Given the description of an element on the screen output the (x, y) to click on. 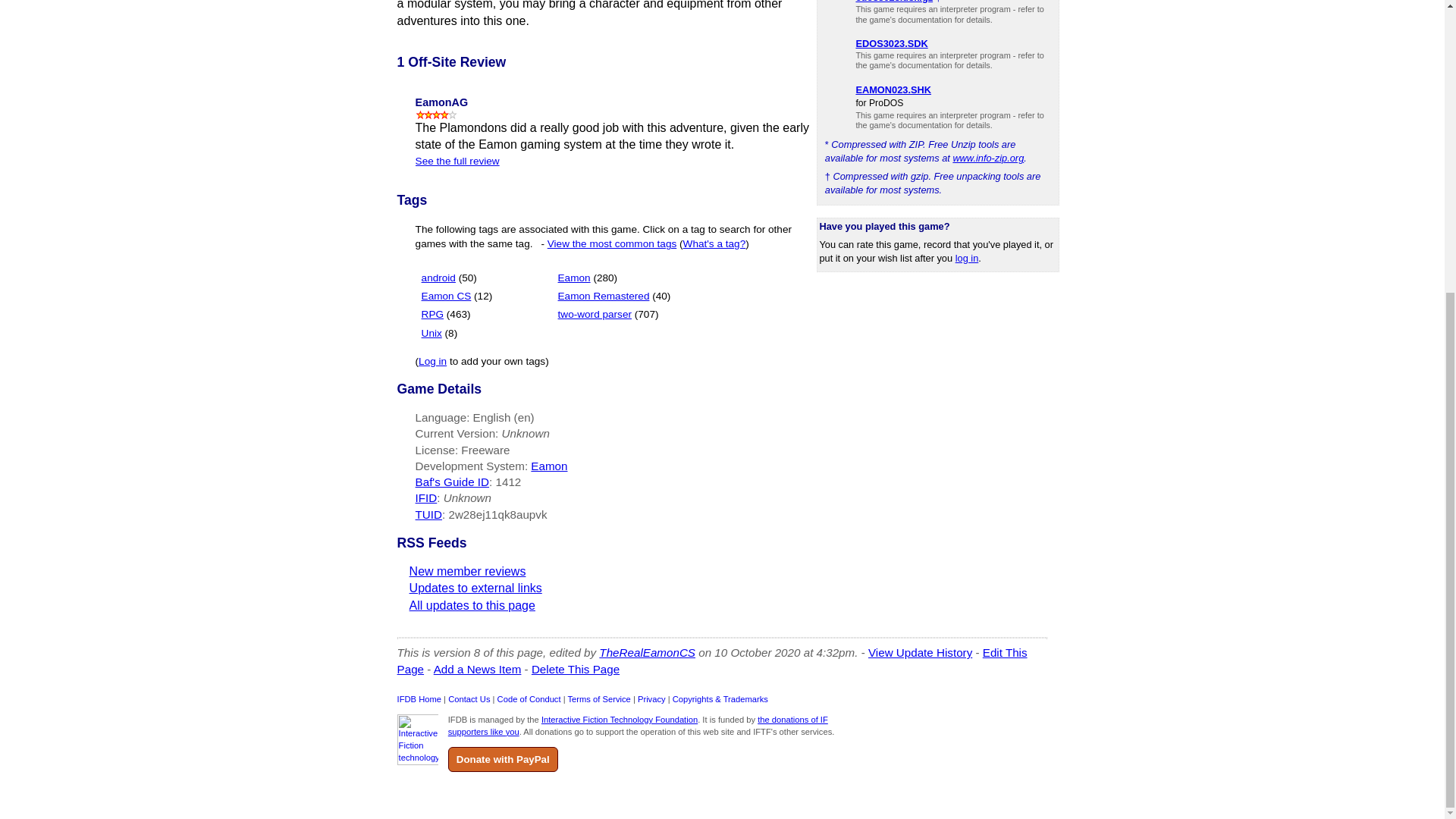
See the full review (456, 161)
8 games have this tag (451, 333)
280 games have this tag (604, 277)
Search for games tagged with Eamon (587, 277)
Search for games tagged with Unix (440, 333)
Search for games tagged with android (449, 277)
edos3023.dsk.gz (894, 1)
Donate with PayPal (502, 759)
463 games have this tag (458, 314)
EAMON023.SHK (893, 89)
